Given the description of an element on the screen output the (x, y) to click on. 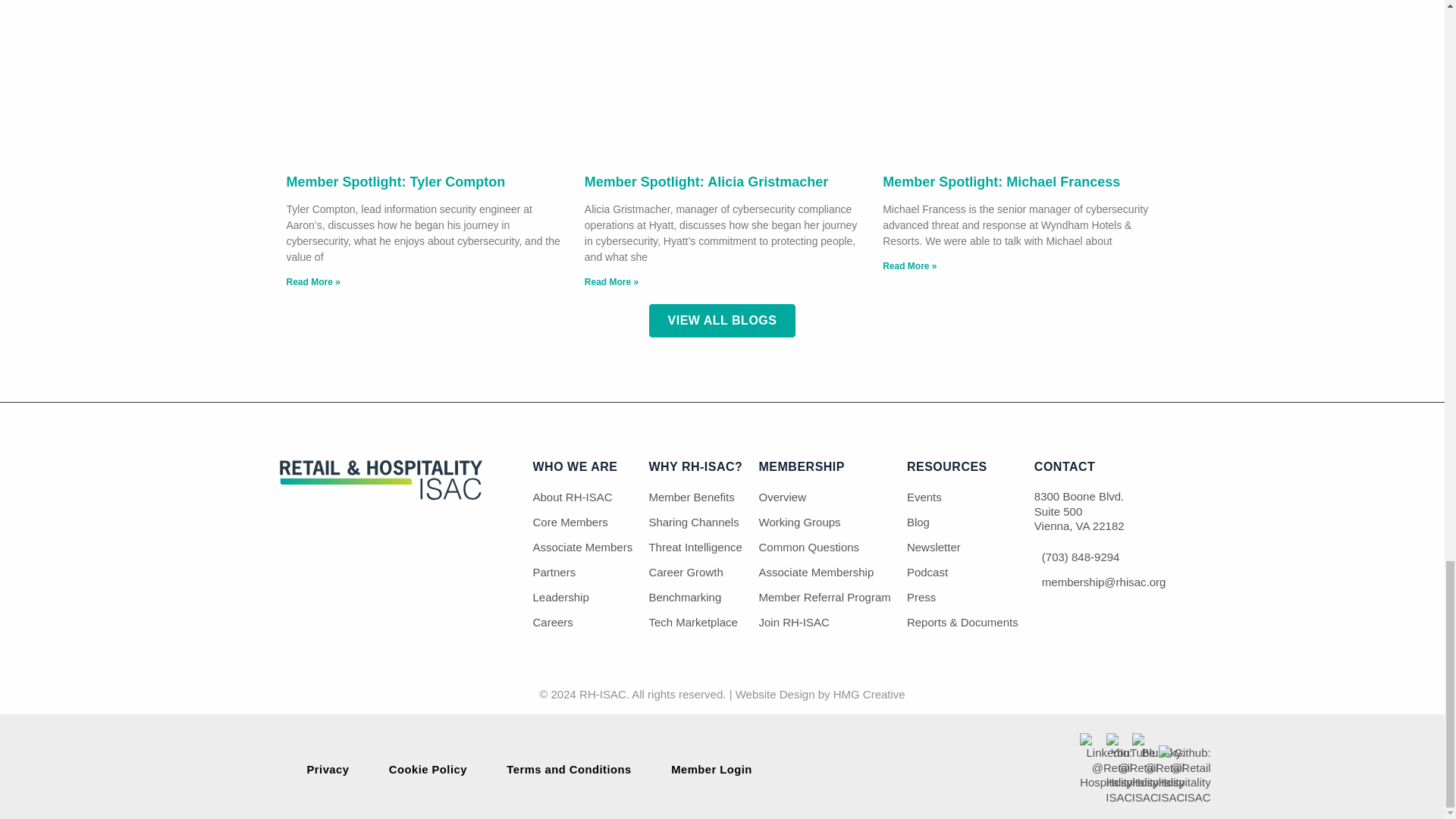
Cookie Policy  (427, 769)
Terms and Conditions  (568, 769)
Privacy Policy (327, 769)
RH-ISAC (381, 495)
